Given the description of an element on the screen output the (x, y) to click on. 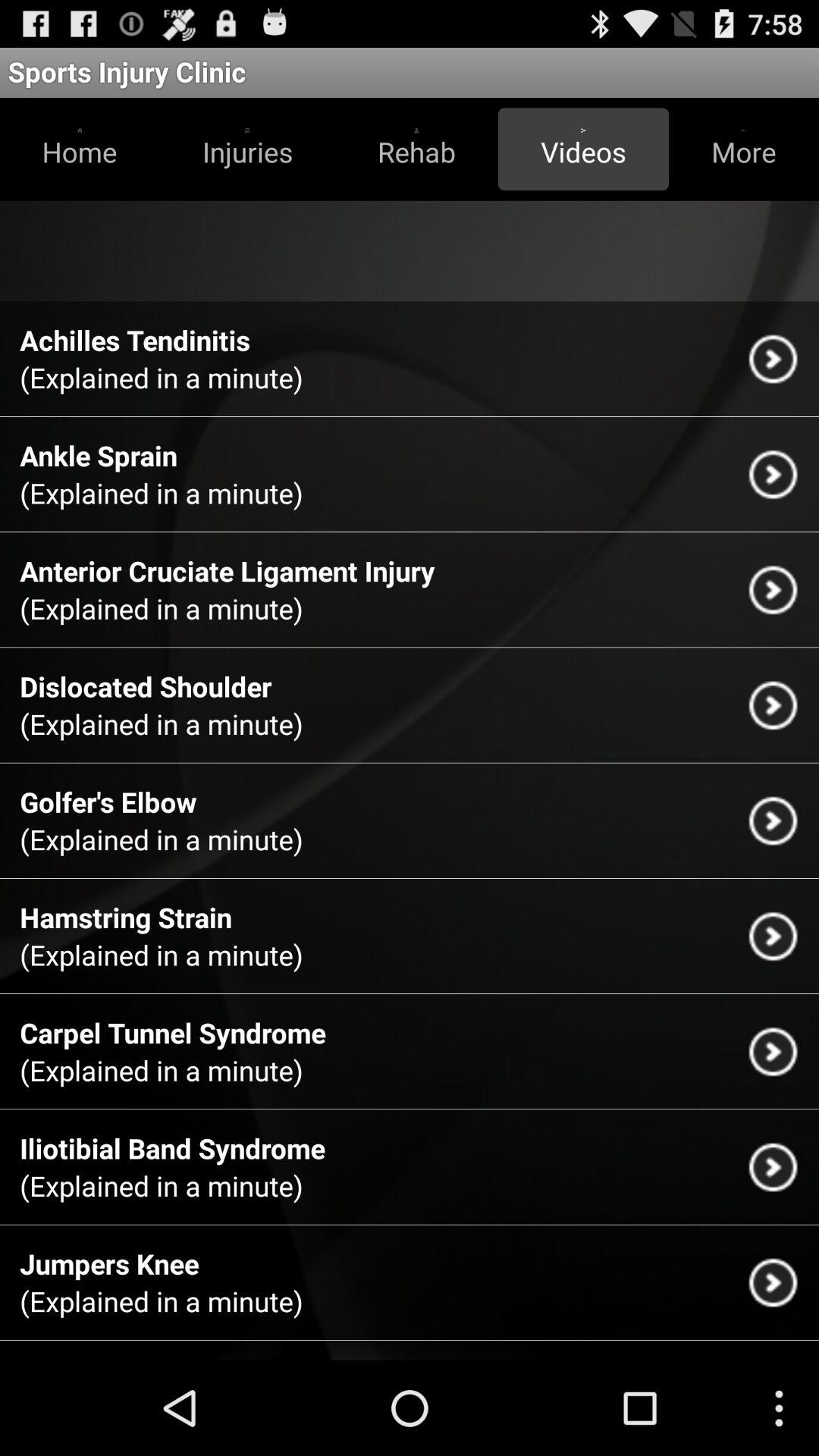
select icon above explained in a icon (107, 801)
